Given the description of an element on the screen output the (x, y) to click on. 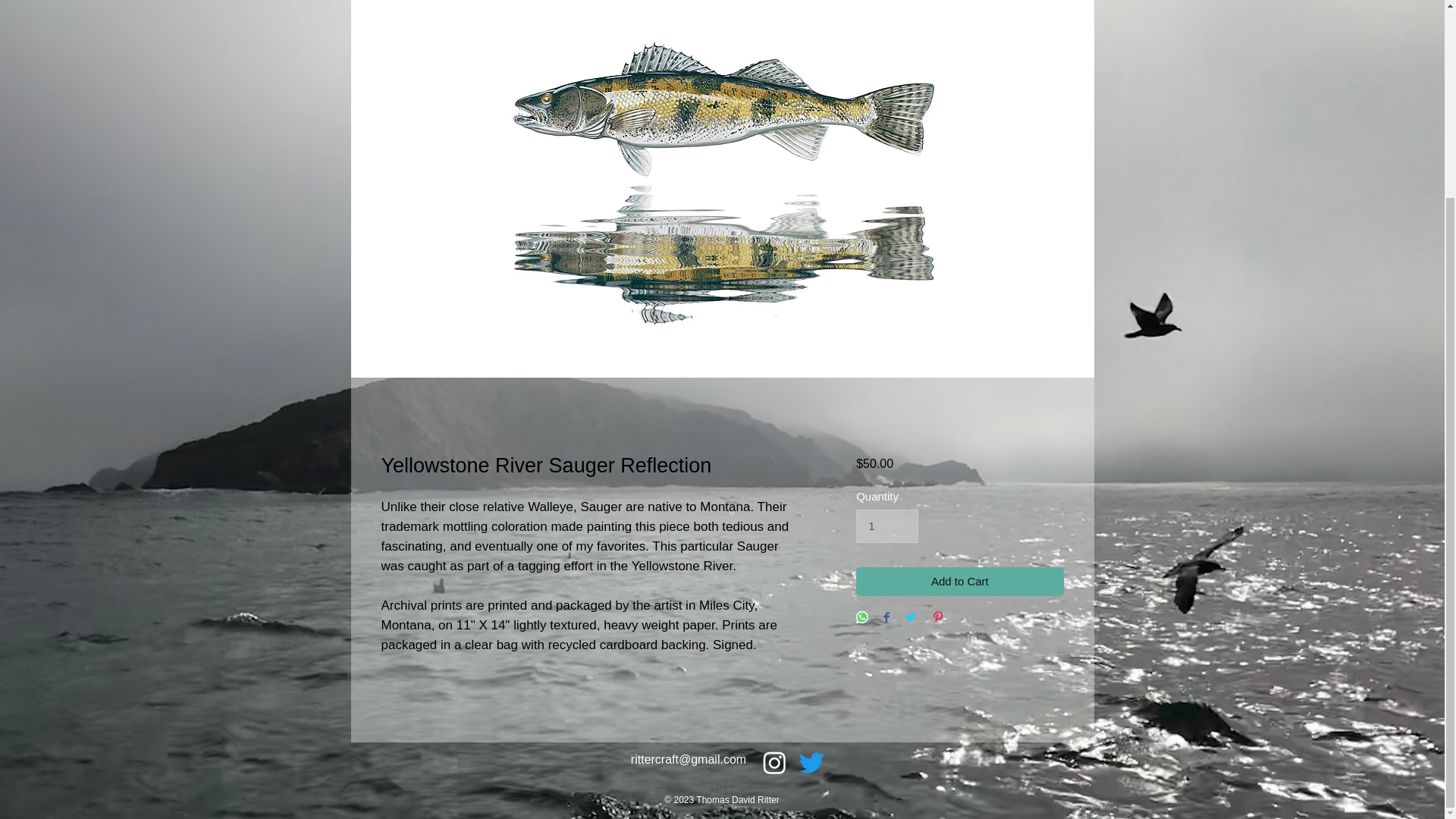
1 (887, 525)
Add to Cart (959, 582)
